Given the description of an element on the screen output the (x, y) to click on. 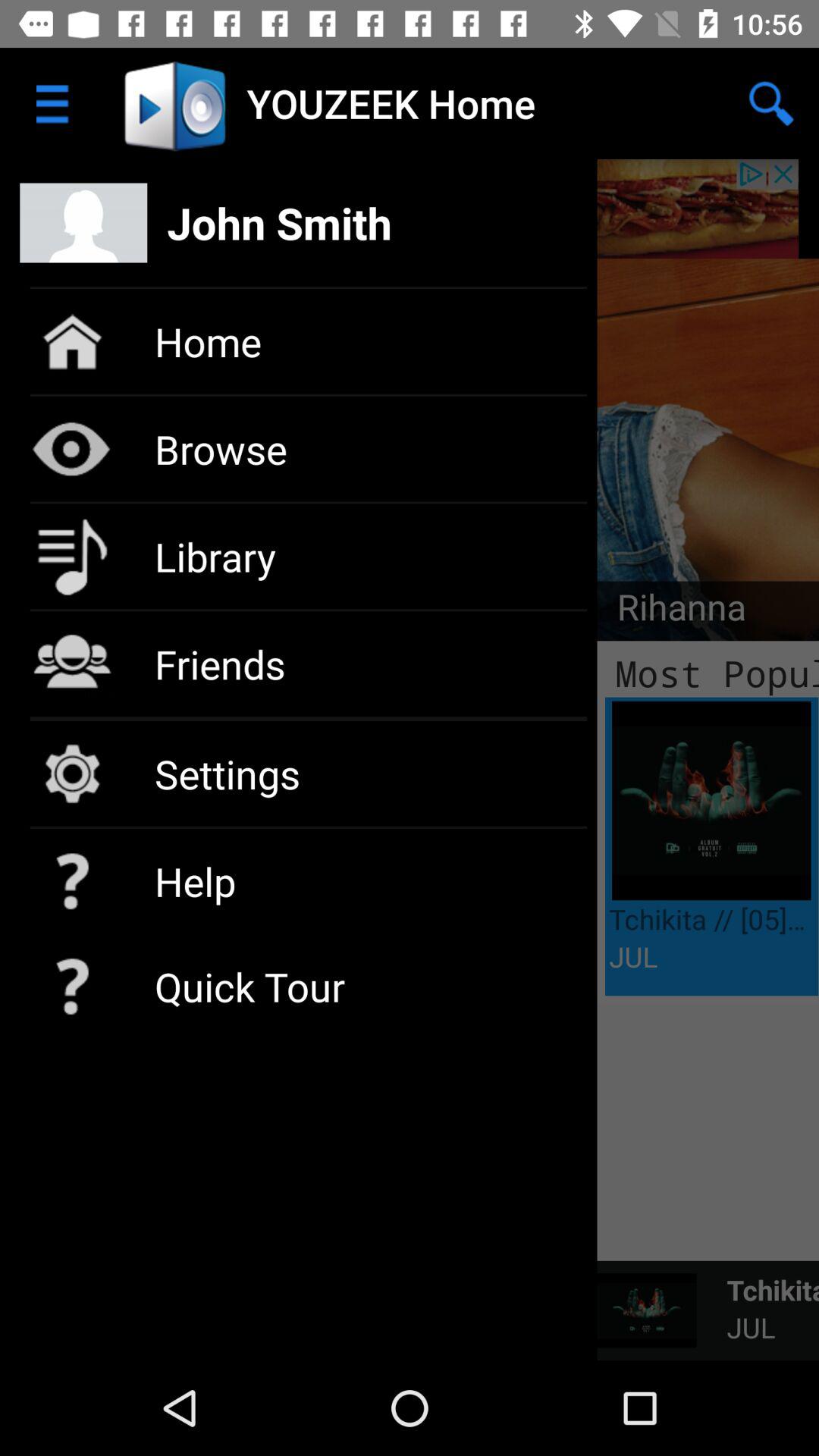
launch item to the right of john smith item (771, 103)
